Given the description of an element on the screen output the (x, y) to click on. 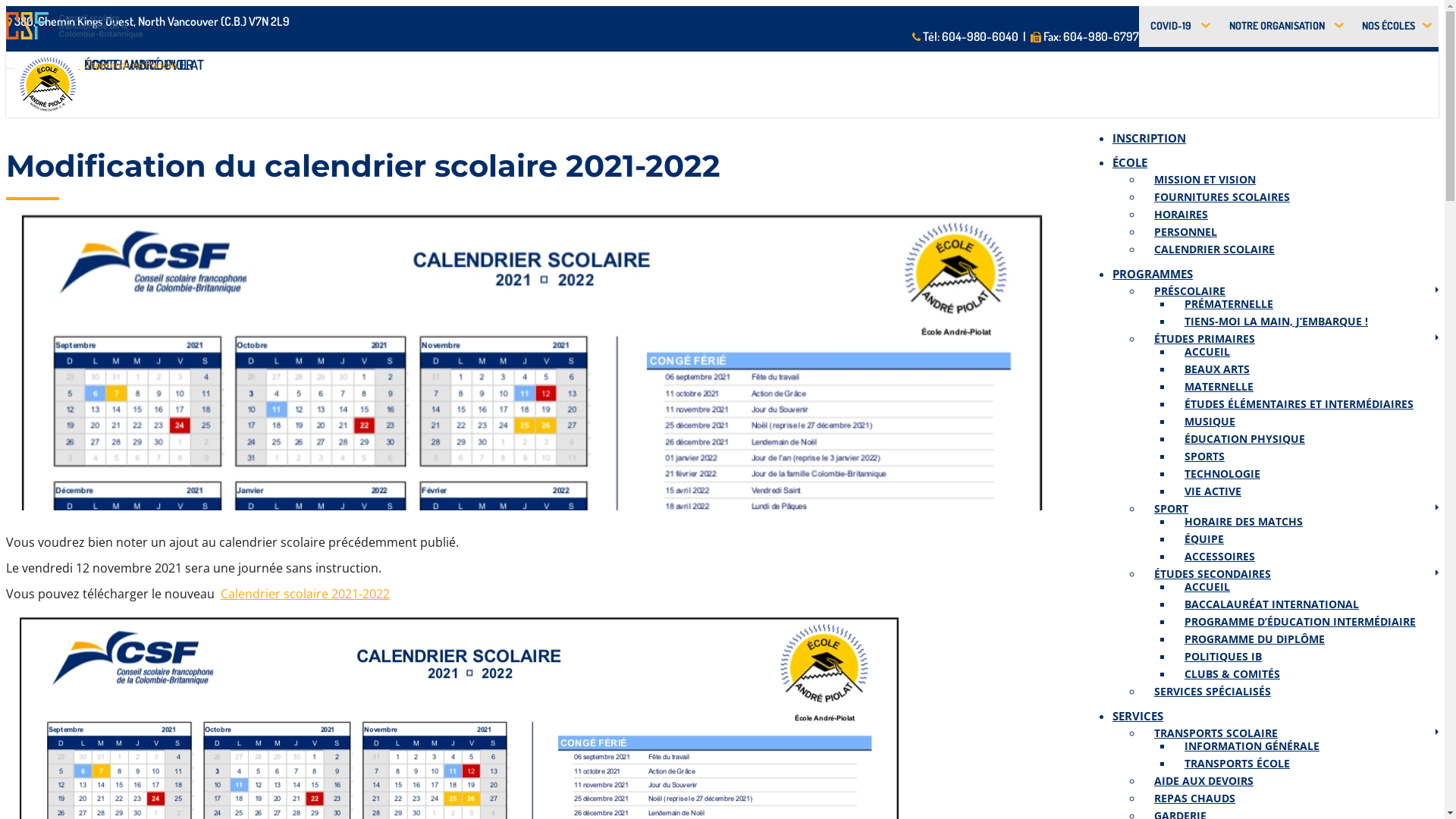
HORAIRE DES MATCHS Element type: text (1245, 521)
COVID-19  Element type: text (1178, 26)
INSCRIPTION Element type: text (1149, 129)
Basculer la navigation Element type: text (10, 68)
Calendrier scolaire 2021-2022 Element type: text (304, 593)
SERVICES Element type: text (1137, 707)
NOTRE ORGANISATION  Element type: text (1283, 26)
HORAIRES Element type: text (1182, 214)
SPORTS Element type: text (1206, 456)
ACCESSOIRES Element type: text (1221, 556)
MUSIQUE Element type: text (1211, 421)
PROGRAMMES Element type: text (1152, 264)
FOURNITURES SCOLAIRES Element type: text (1223, 196)
VIE ACTIVE Element type: text (1214, 491)
AIDE AUX DEVOIRS Element type: text (1205, 780)
ACCUEIL Element type: text (1209, 351)
PERSONNEL Element type: text (1187, 231)
MISSION ET VISION Element type: text (1206, 179)
CALENDRIER SCOLAIRE Element type: text (1215, 249)
TECHNOLOGIE Element type: text (1224, 473)
SPORT Element type: text (1172, 508)
POLITIQUES IB Element type: text (1225, 656)
REPAS CHAUDS Element type: text (1196, 798)
ACCUEIL Element type: text (1209, 586)
BEAUX ARTS Element type: text (1218, 368)
TRANSPORTS SCOLAIRE Element type: text (1217, 732)
MATERNELLE Element type: text (1220, 386)
